Given the description of an element on the screen output the (x, y) to click on. 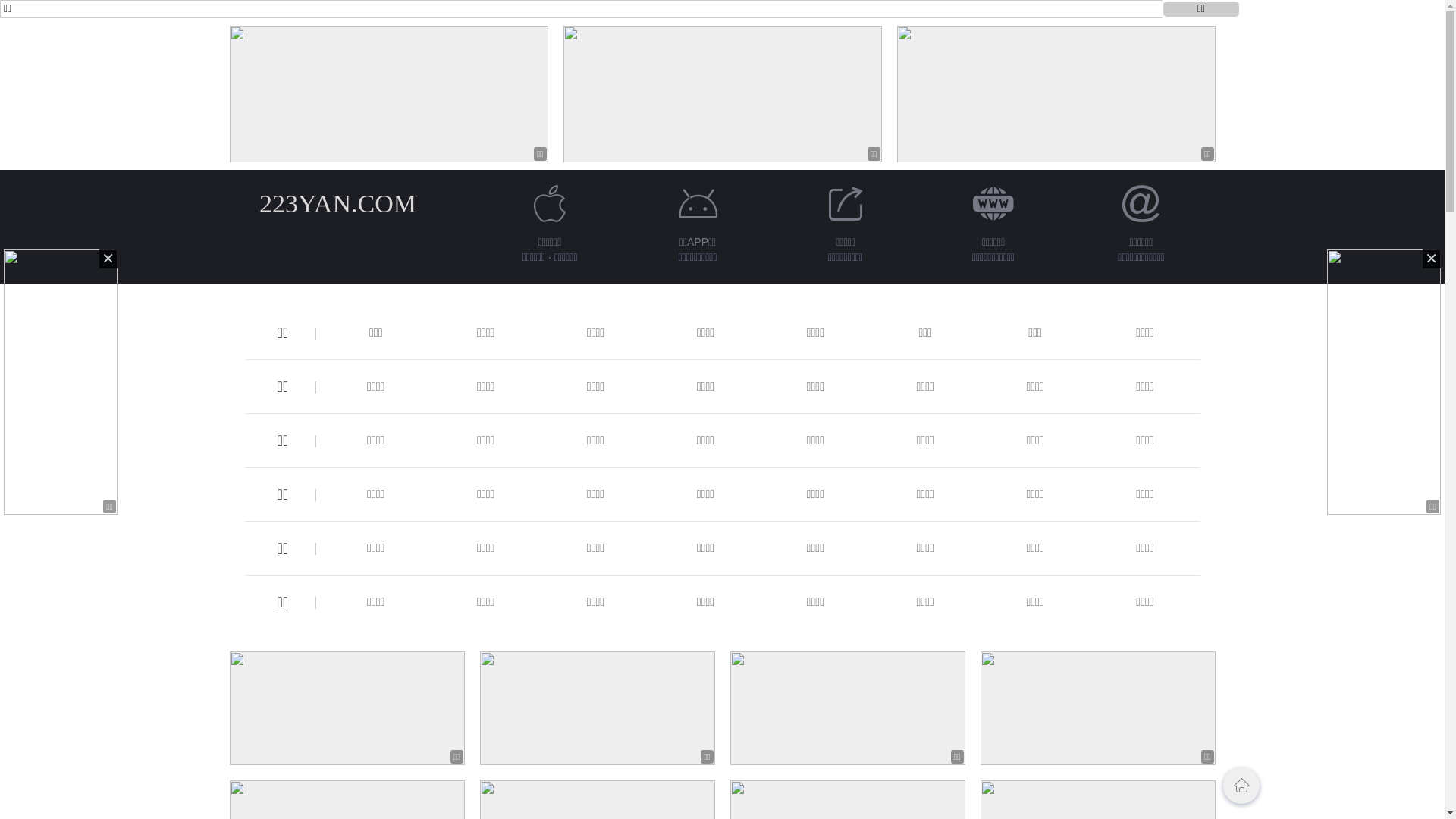
223YAN.COM Element type: text (337, 203)
